Given the description of an element on the screen output the (x, y) to click on. 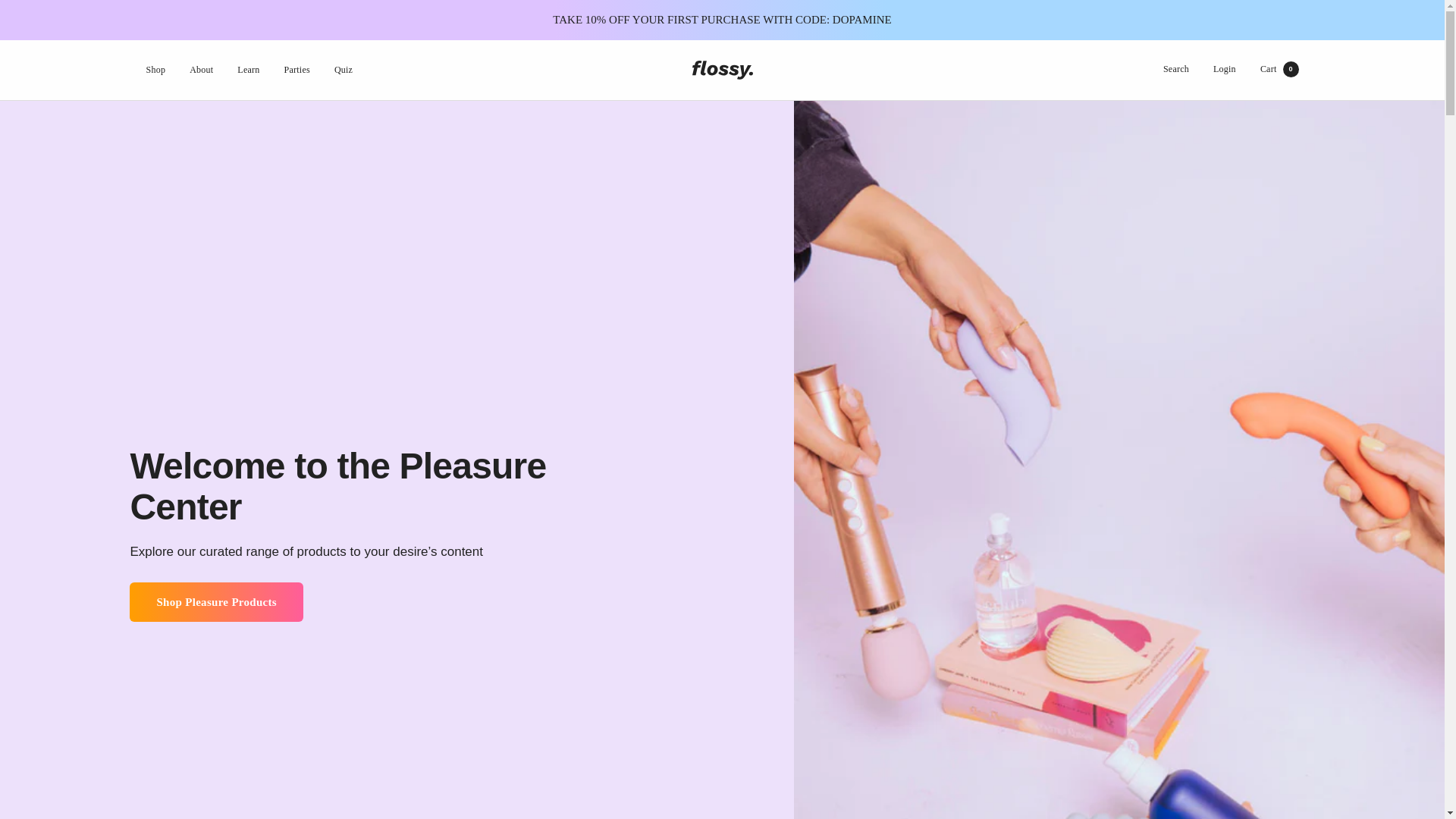
Parties (296, 69)
Learn (248, 69)
Login (1224, 68)
flossy (721, 69)
Search (1176, 68)
Quiz (343, 69)
About (1279, 68)
Shop (200, 69)
Shop Pleasure Products (155, 69)
